Given the description of an element on the screen output the (x, y) to click on. 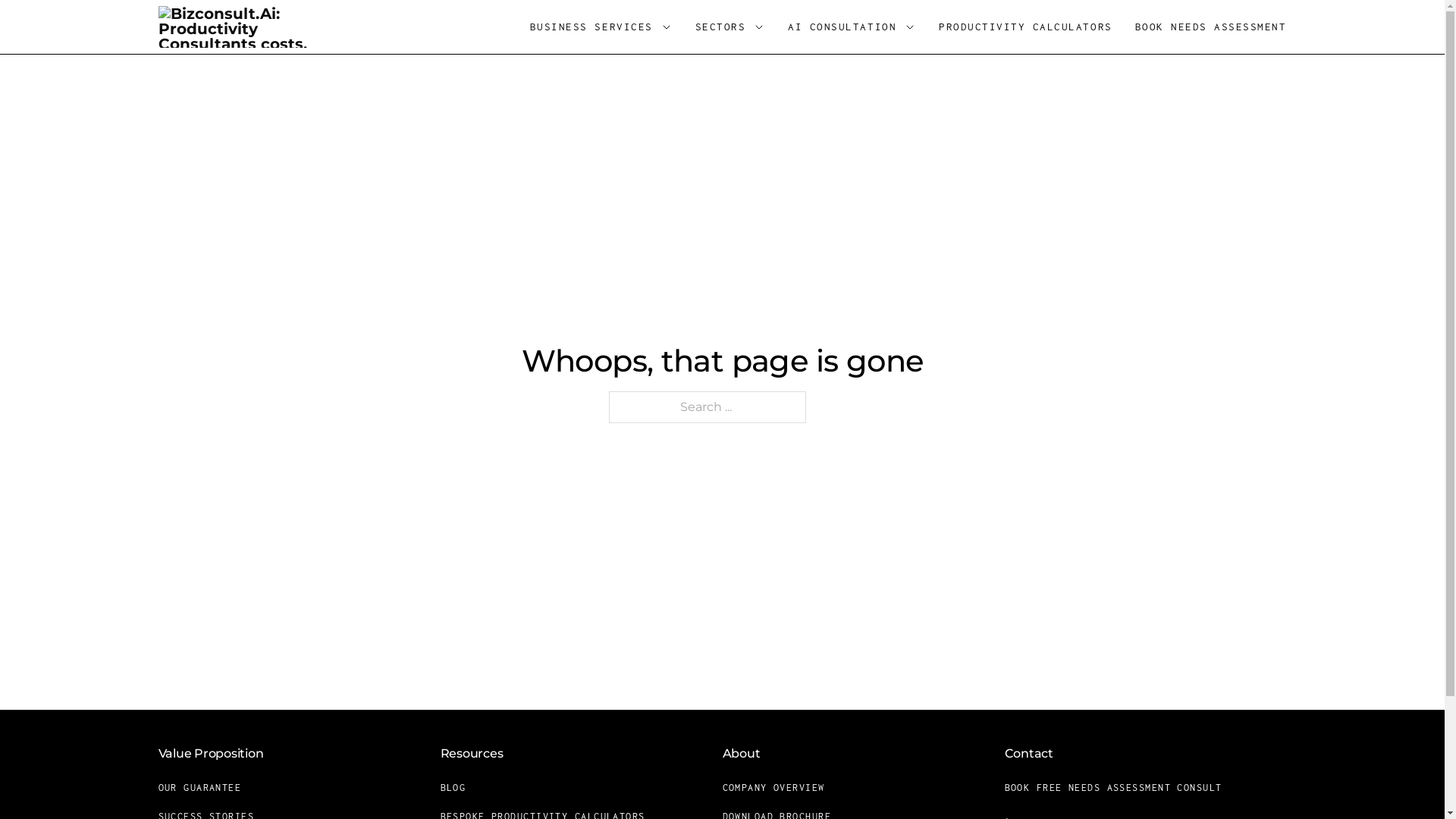
OUR GUARANTEE Element type: text (208, 787)
BOOK NEEDS ASSESSMENT Element type: text (1210, 26)
PRODUCTIVITY CALCULATORS Element type: text (1024, 26)
SECTORS Element type: text (720, 26)
BOOK FREE NEEDS ASSESSMENT CONSULT Element type: text (1122, 787)
AI CONSULTATION Element type: text (841, 26)
COMPANY OVERVIEW Element type: text (782, 787)
BLOG Element type: text (462, 787)
BUSINESS SERVICES Element type: text (591, 26)
